Given the description of an element on the screen output the (x, y) to click on. 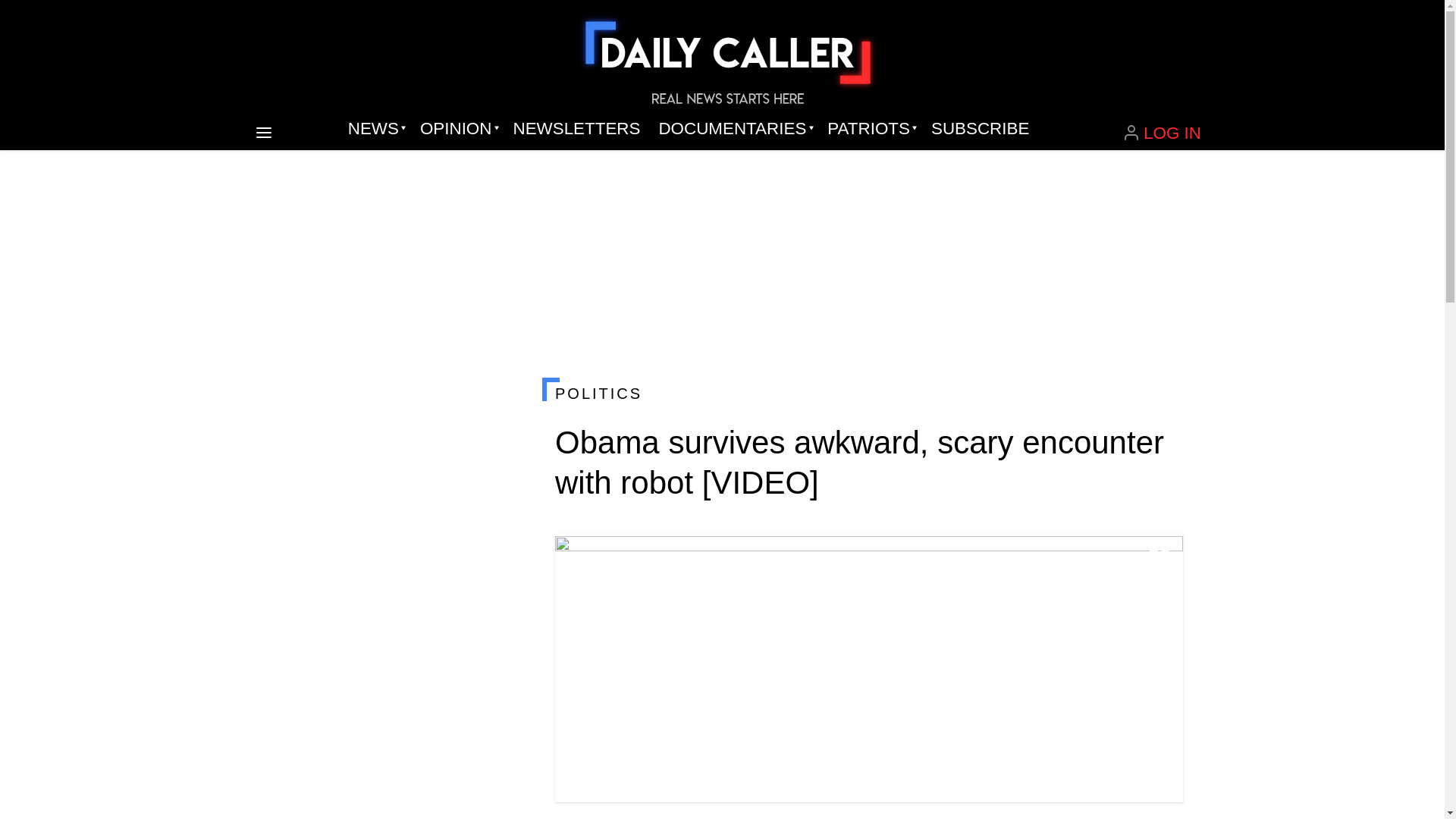
OPINION (456, 128)
PATRIOTS (869, 128)
POLITICS (868, 393)
DOCUMENTARIES (733, 128)
NEWSLETTERS (576, 128)
SUBSCRIBE (979, 128)
Toggle fullscreen (1159, 556)
NEWS (374, 128)
